Given the description of an element on the screen output the (x, y) to click on. 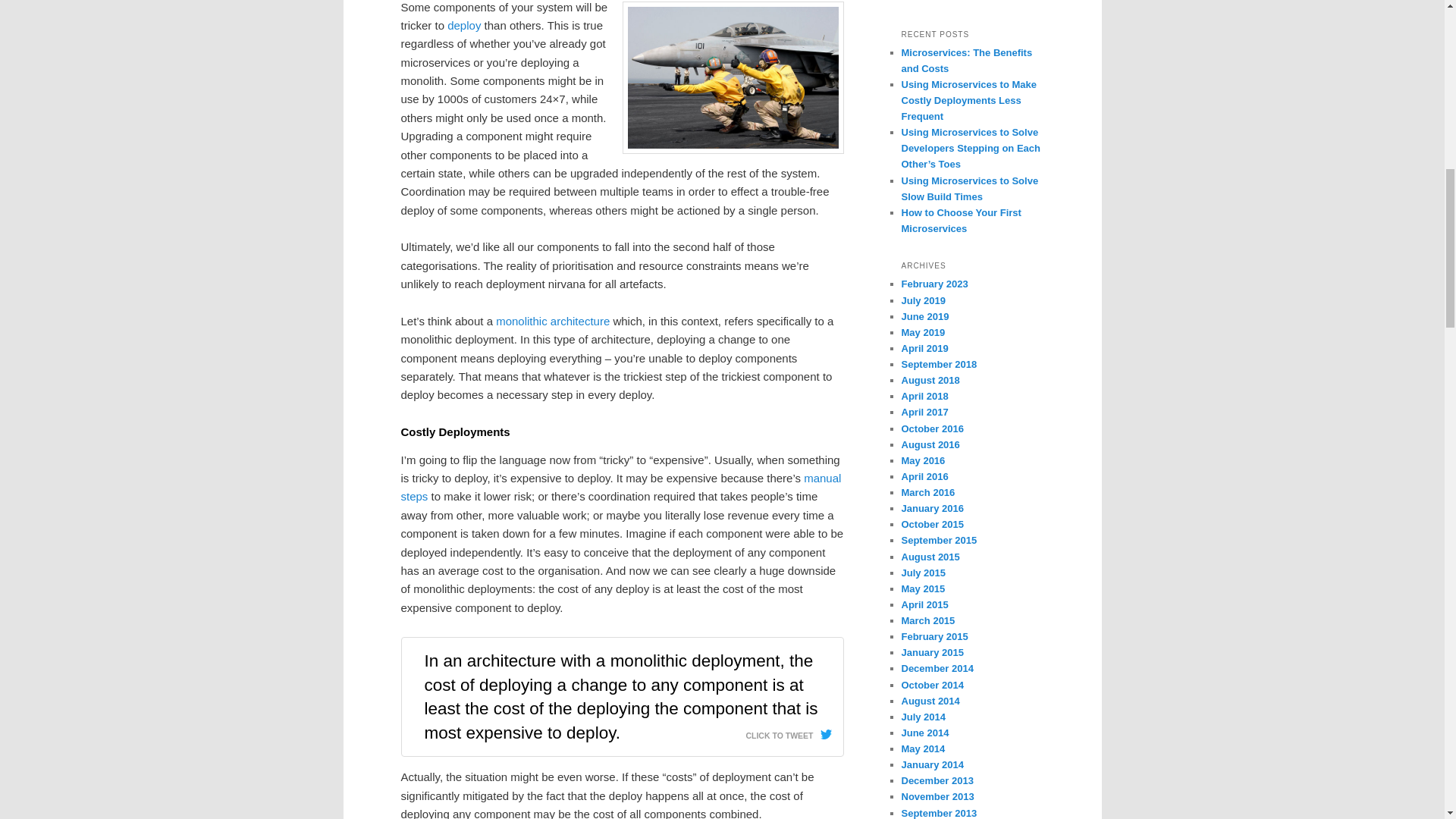
deploy (463, 24)
monolithic architecture (553, 320)
CLICK TO TWEET (788, 731)
manual steps (620, 486)
